Given the description of an element on the screen output the (x, y) to click on. 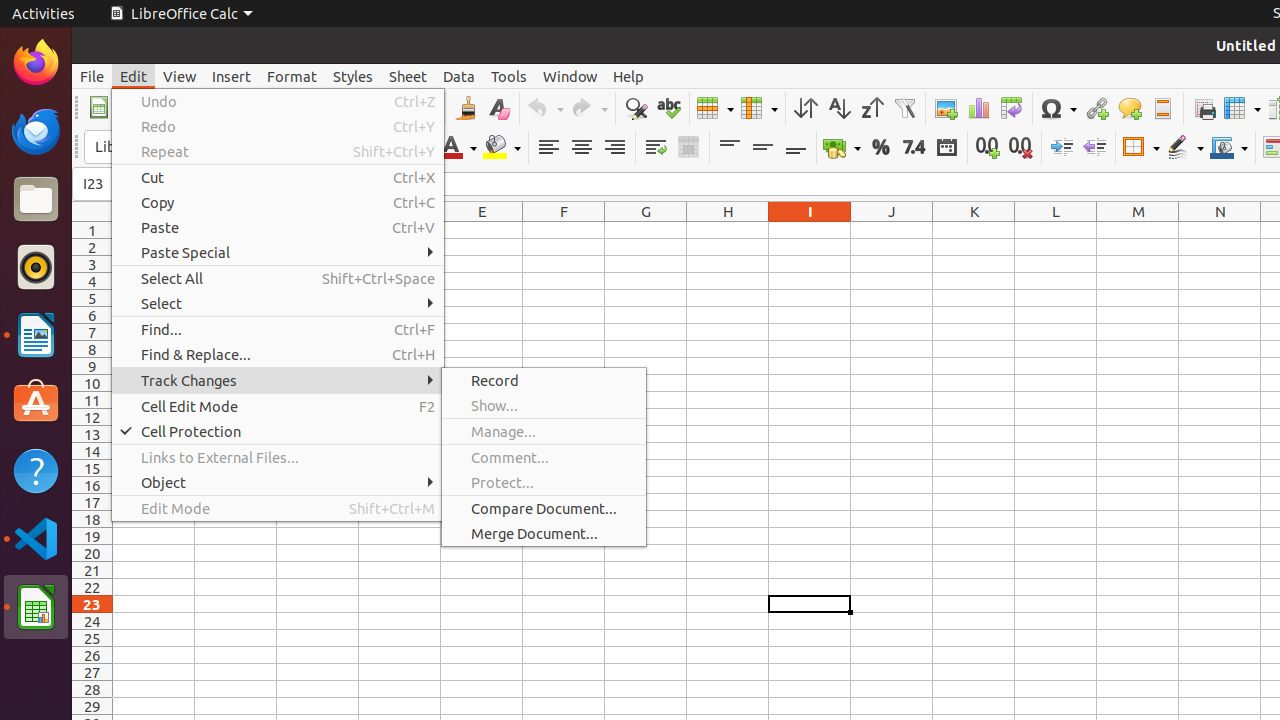
Border Color Element type: push-button (1229, 147)
Data Element type: menu (459, 76)
Print Area Element type: push-button (1203, 108)
Border Style Element type: push-button (1185, 147)
